Given the description of an element on the screen output the (x, y) to click on. 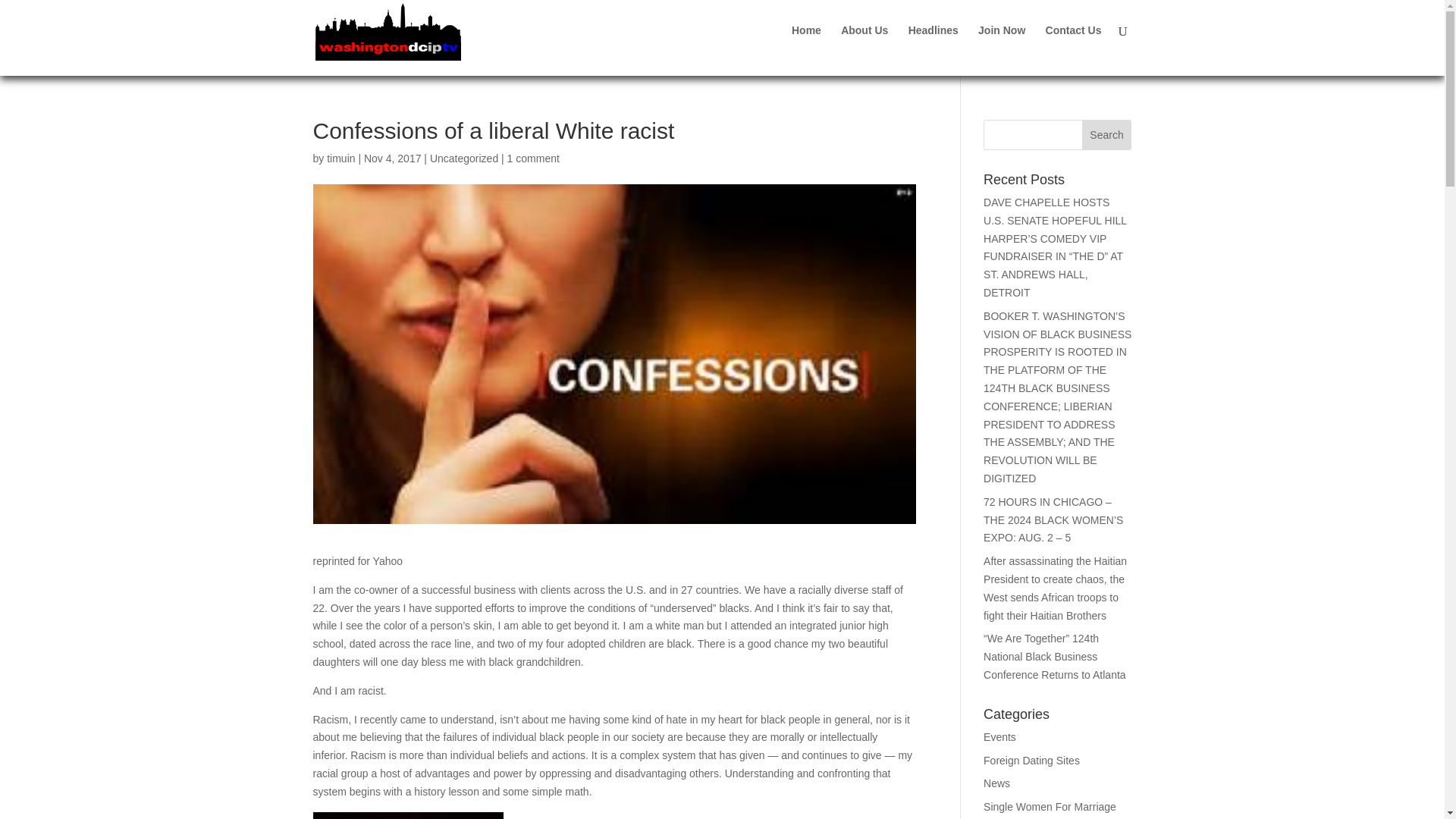
Headlines (933, 42)
Posts by timuin (340, 158)
timuin (340, 158)
Search (1106, 134)
Search (1106, 134)
Events (1000, 736)
Contact Us (1073, 42)
Foreign Dating Sites (1032, 760)
About Us (864, 42)
News (997, 783)
Join Now (1001, 42)
Uncategorized (463, 158)
1 comment (532, 158)
Single Women For Marriage (1050, 806)
